Given the description of an element on the screen output the (x, y) to click on. 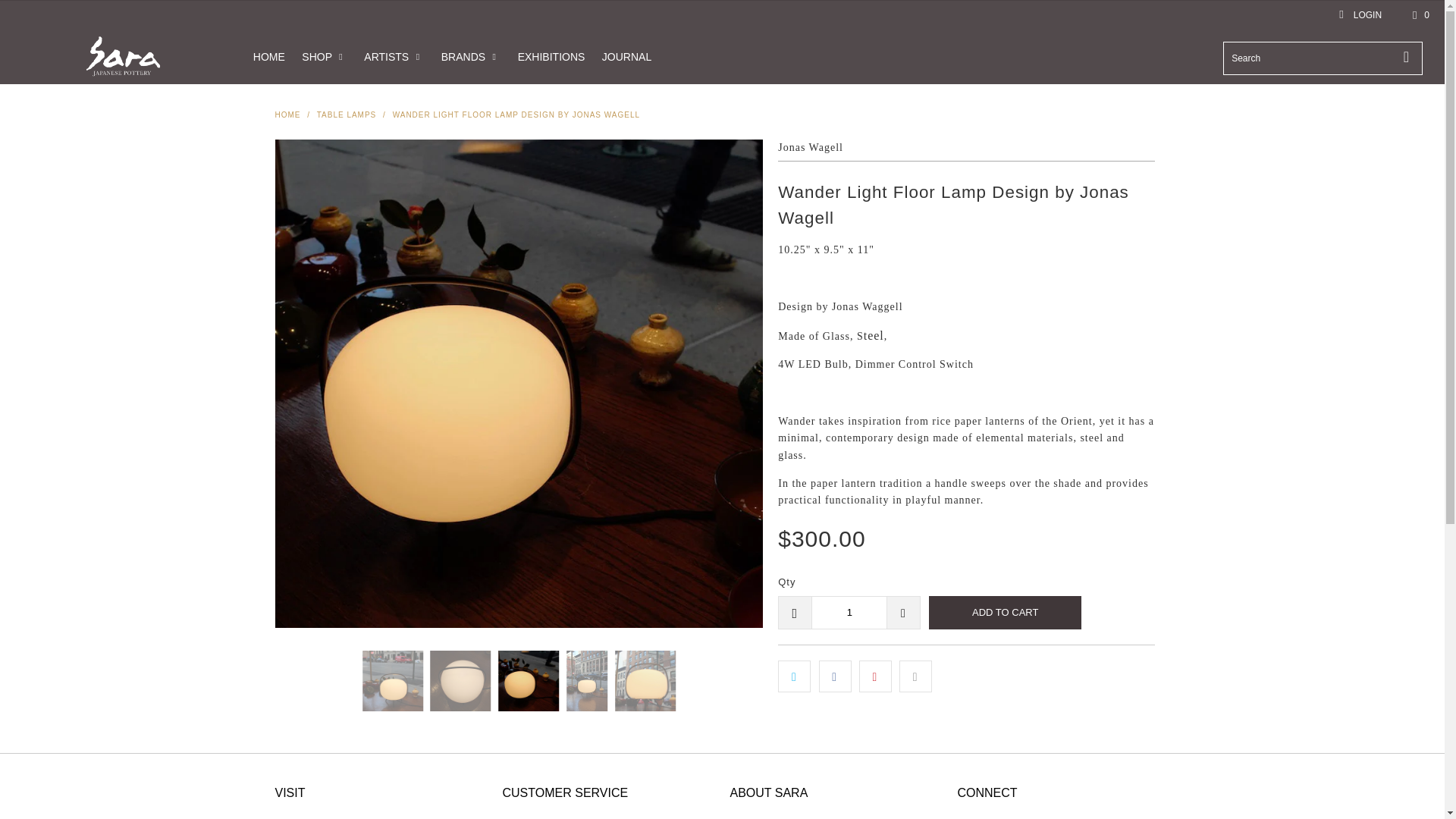
Share this on Facebook (834, 676)
My Account  (1359, 15)
Email this to a friend (915, 676)
Sara Japanese Pottery (122, 56)
Share this on Pinterest (875, 676)
Sara Japanese Pottery (287, 114)
Share this on Twitter (793, 676)
1 (848, 612)
Table Lamps (347, 114)
